Given the description of an element on the screen output the (x, y) to click on. 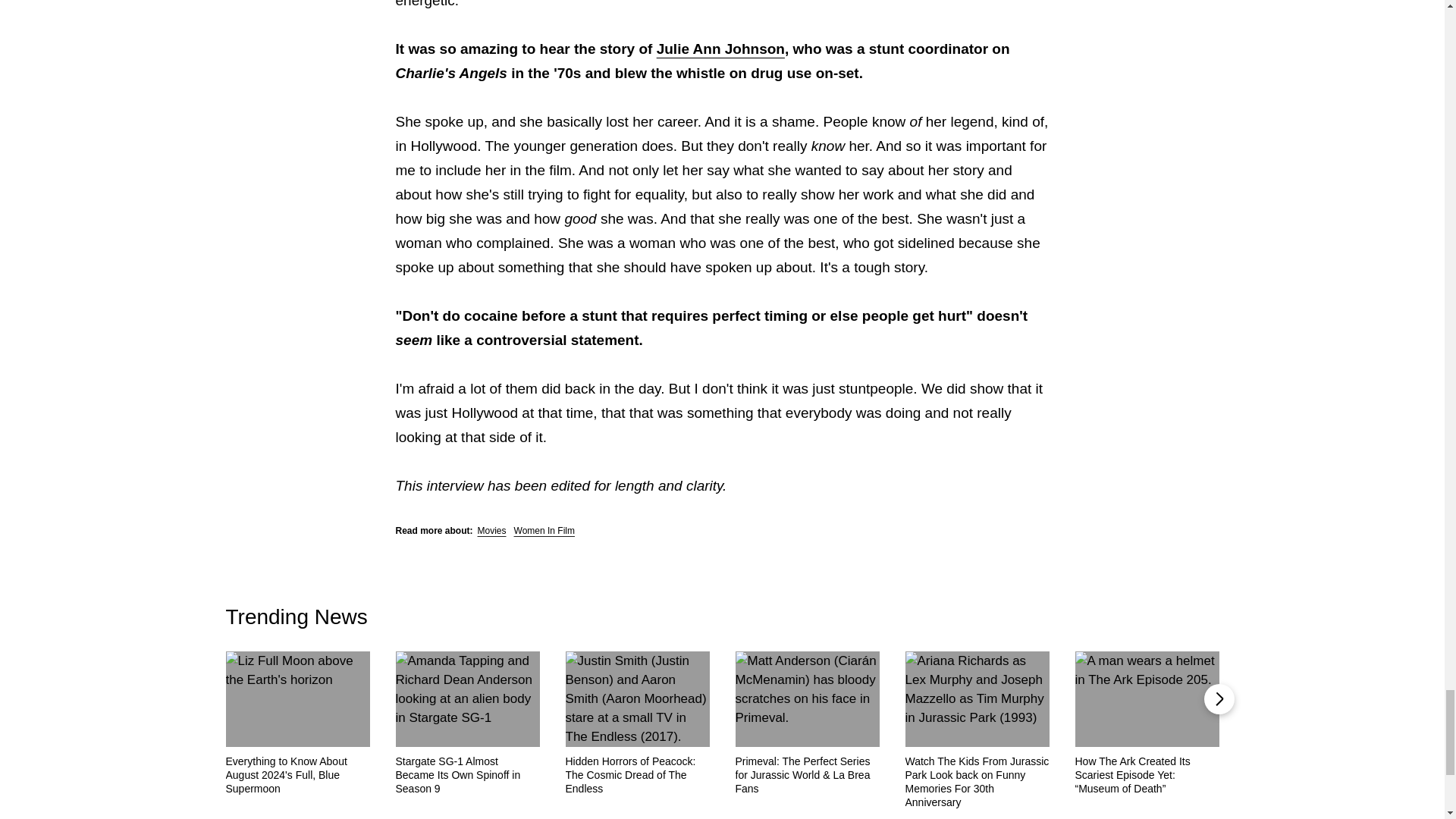
Julie Ann Johnson (720, 48)
Everything to Know About August 2024's Full, Blue Supermoon (297, 774)
Movies (491, 530)
Hidden Horrors of Peacock: The Cosmic Dread of The Endless (638, 774)
Women In Film (544, 530)
Stargate SG-1 Almost Became Its Own Spinoff in Season 9 (468, 774)
